Given the description of an element on the screen output the (x, y) to click on. 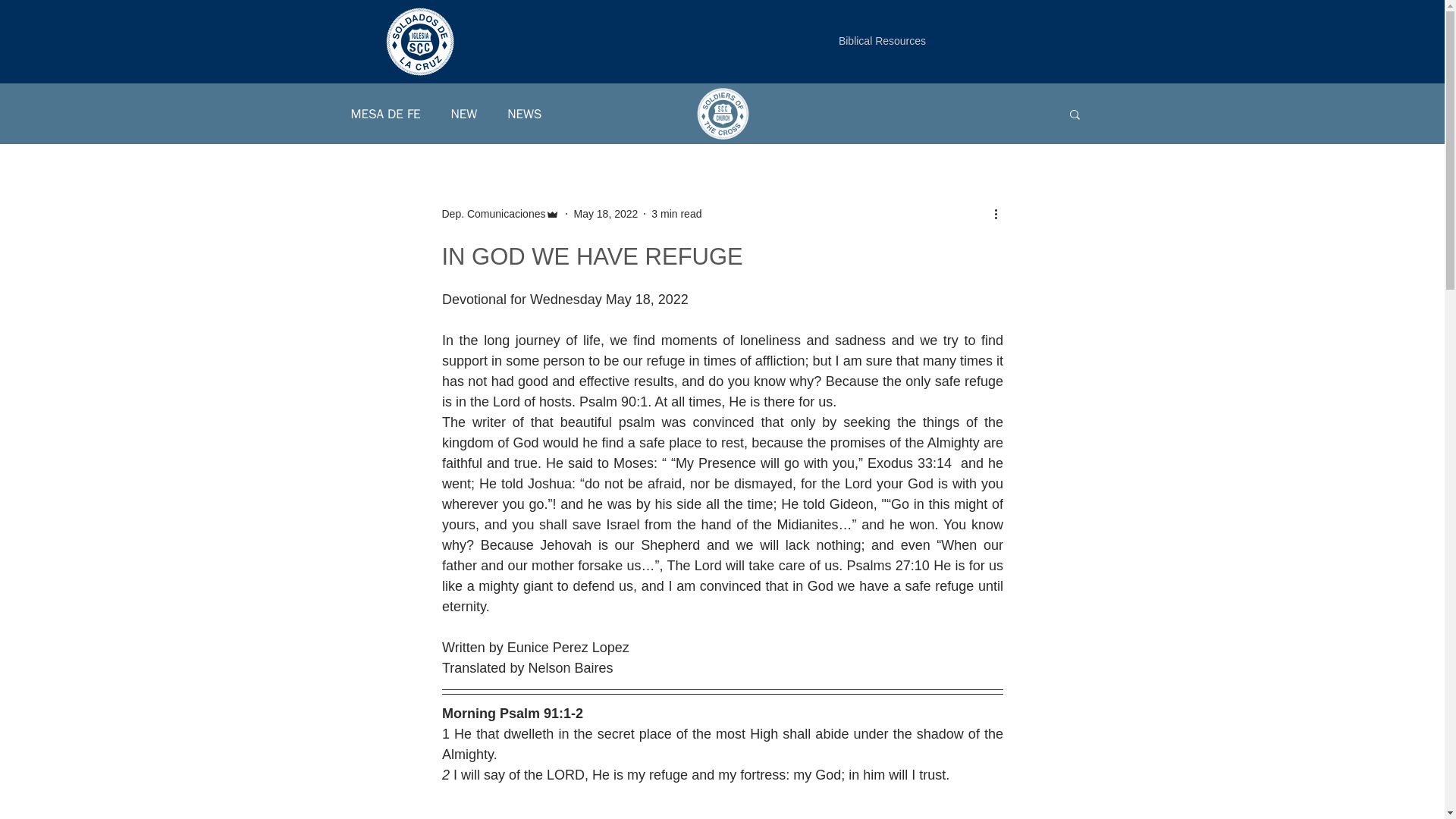
Dep. Comunicaciones (500, 213)
NEWS (523, 113)
Biblical Resources (882, 41)
Events (430, 71)
Leaders Resources (558, 71)
Dep. Comunicaciones (492, 213)
3 min read (675, 214)
MESA DE FE (385, 113)
Log In (1060, 60)
May 18, 2022 (605, 214)
Blog (479, 71)
Radio (376, 71)
NEW (464, 113)
